Given the description of an element on the screen output the (x, y) to click on. 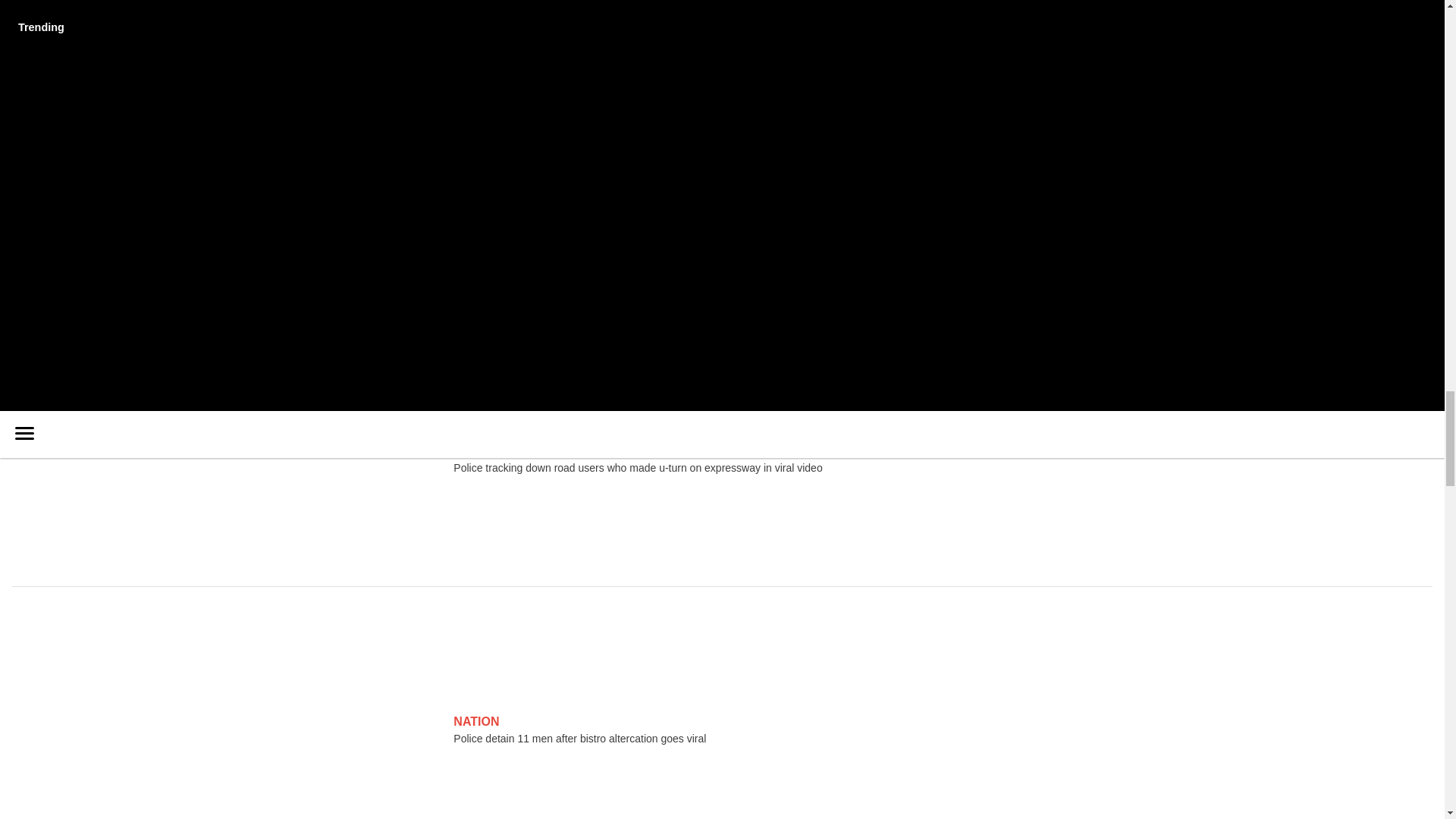
A smashing day for Malaysia at the Olympics (217, 119)
Zii Jia and fellow shuttlers shine as others falter in Paris (246, 158)
Bersatu's Chegubard arrested (178, 236)
